Given the description of an element on the screen output the (x, y) to click on. 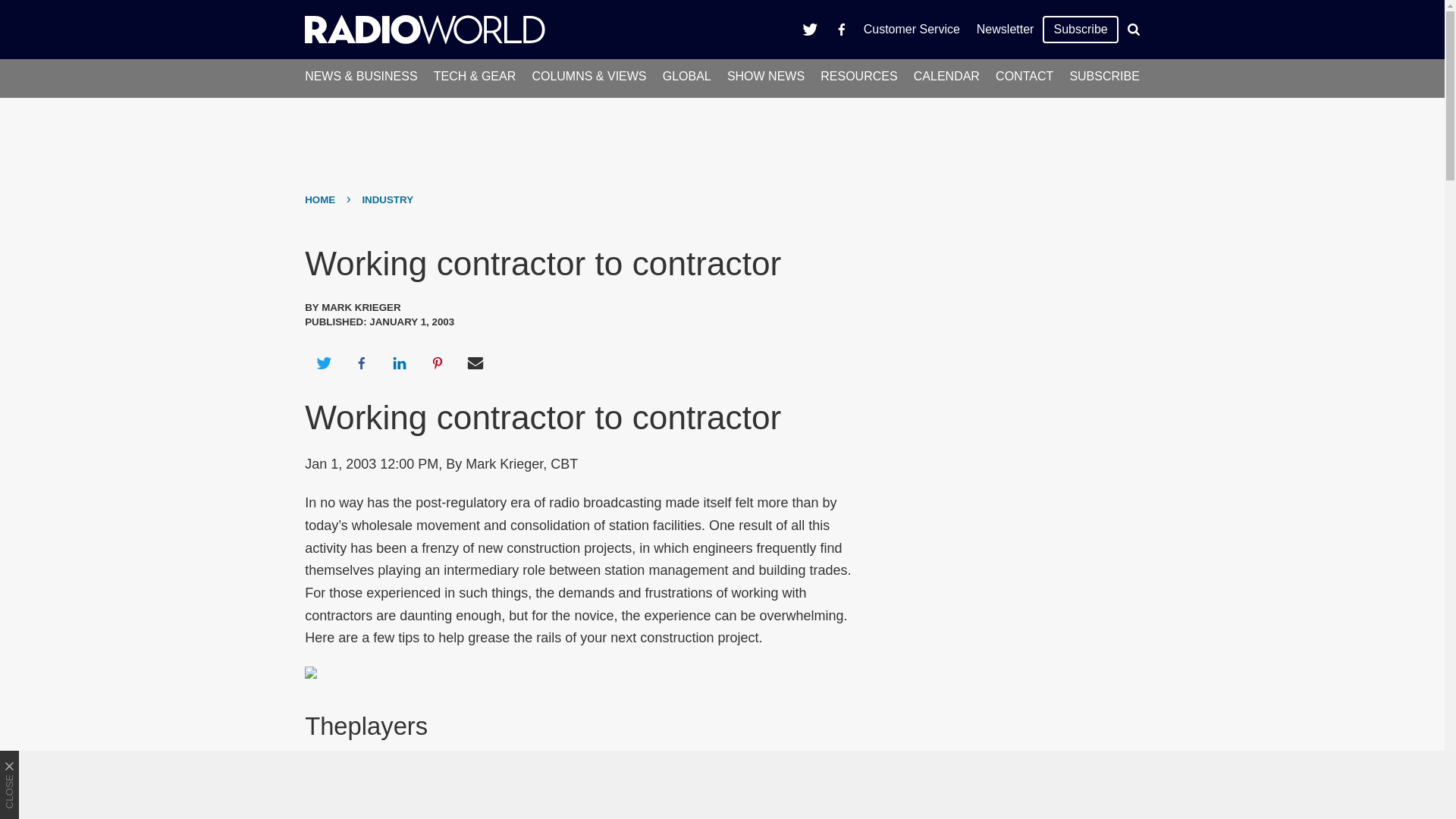
Share via Email (476, 362)
Share on Facebook (361, 362)
Share on LinkedIn (399, 362)
Customer Service (912, 29)
Share on Pinterest (438, 362)
Share on Twitter (323, 362)
